Given the description of an element on the screen output the (x, y) to click on. 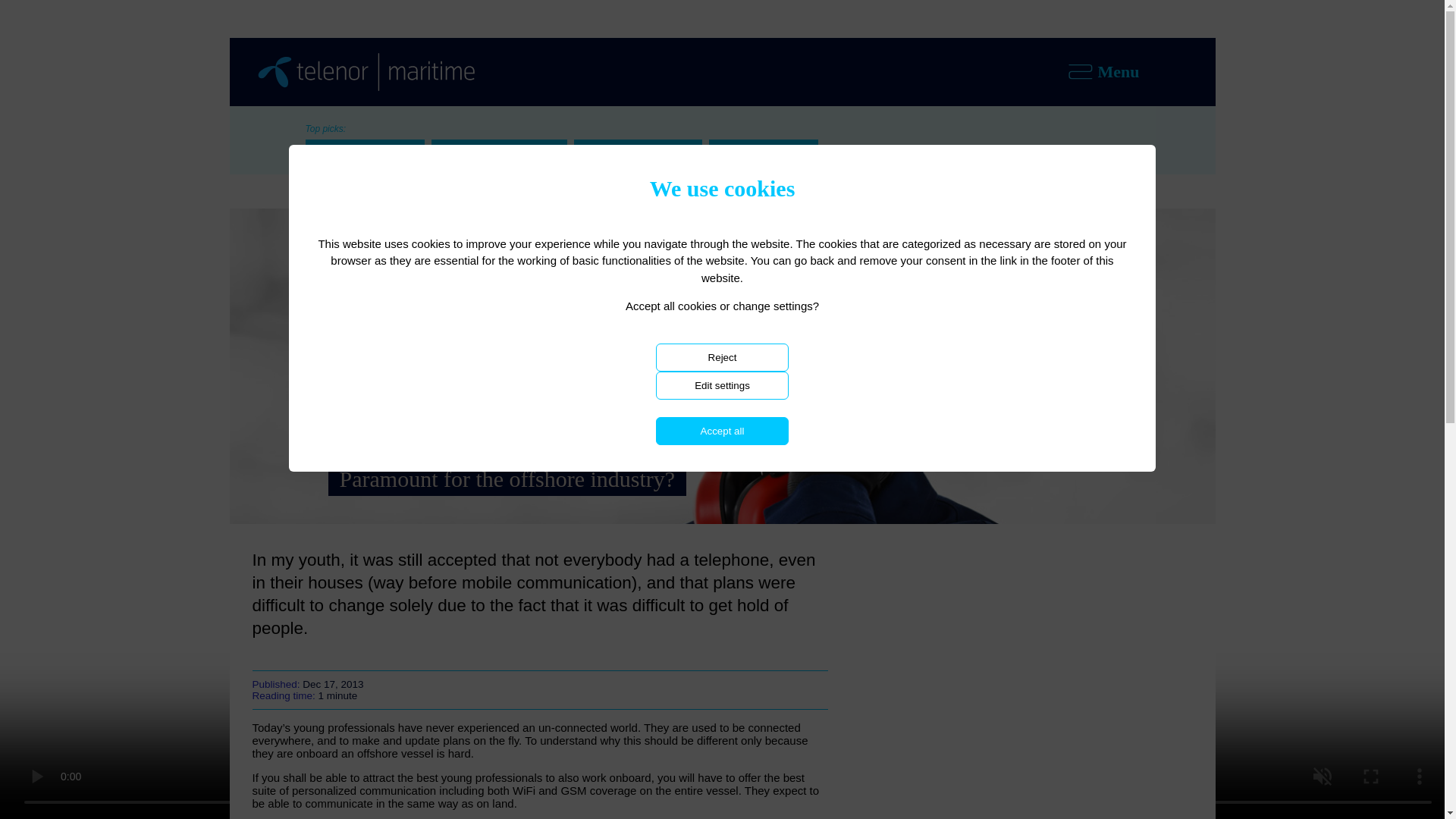
Wi-Fi Service Portal (762, 148)
Reject (722, 357)
Articles (408, 186)
Telenor Maritime (341, 186)
Telenor Maritime - Leading the digital transformation at sea (365, 71)
Accept all (722, 430)
Edit settings (722, 385)
Menu (1141, 71)
Mobile Service on board (637, 148)
